Given the description of an element on the screen output the (x, y) to click on. 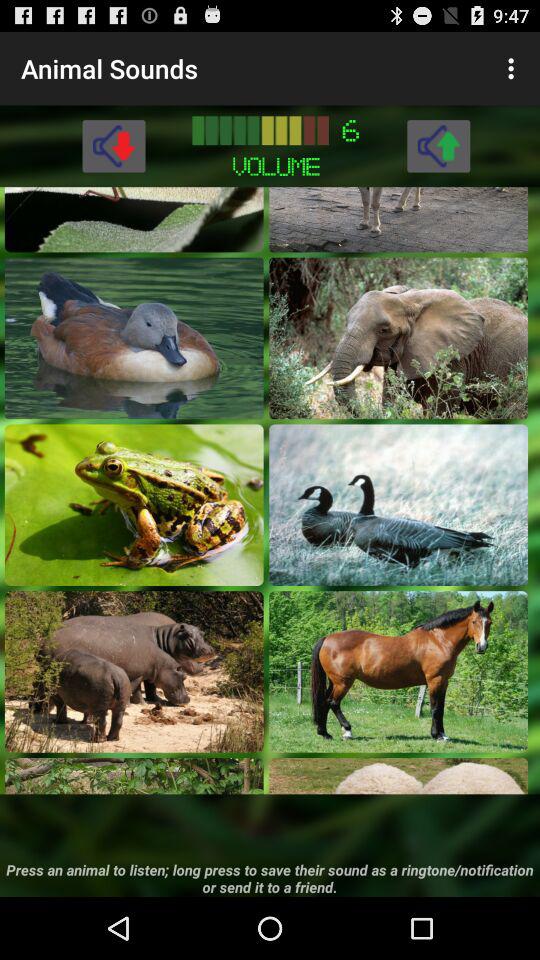
turn on app above press an animal (398, 775)
